Given the description of an element on the screen output the (x, y) to click on. 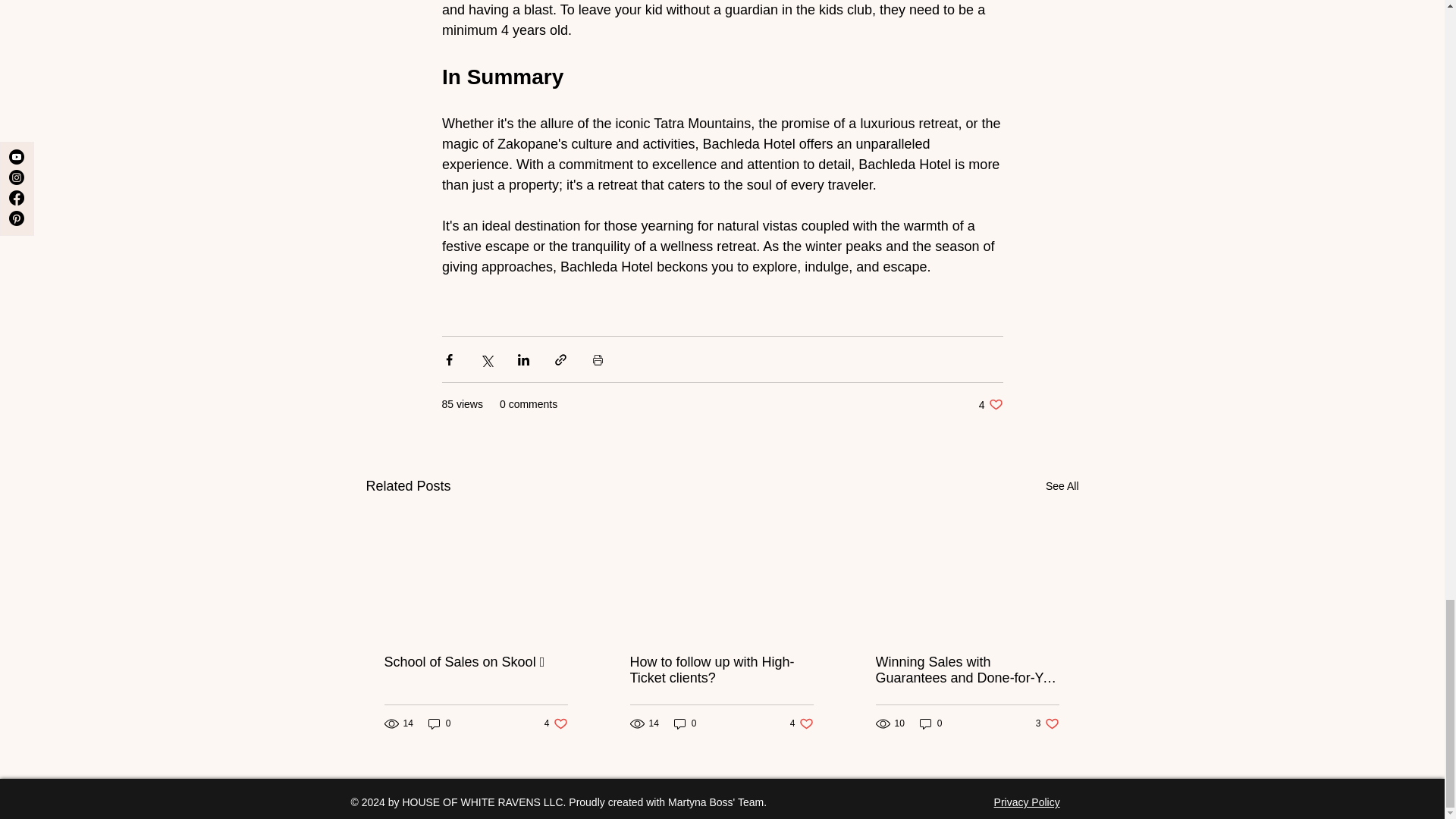
See All (1061, 486)
How to follow up with High-Ticket clients? (801, 723)
0 (720, 670)
0 (685, 723)
Winning Sales with Guarantees and Done-for-You Services (990, 404)
